Given the description of an element on the screen output the (x, y) to click on. 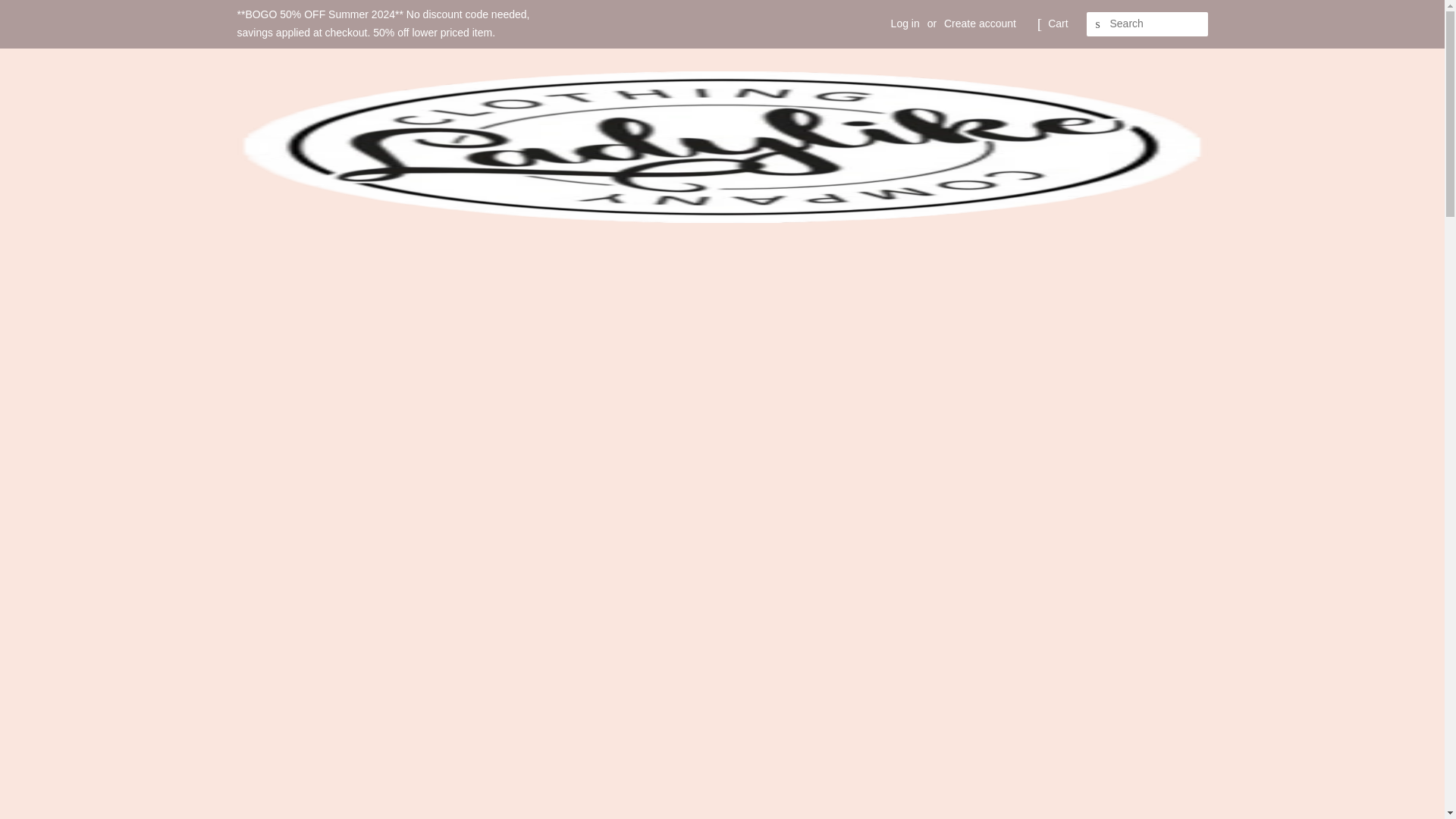
Cart (1057, 24)
Create account (979, 23)
Log in (905, 23)
SEARCH (1097, 24)
